Given the description of an element on the screen output the (x, y) to click on. 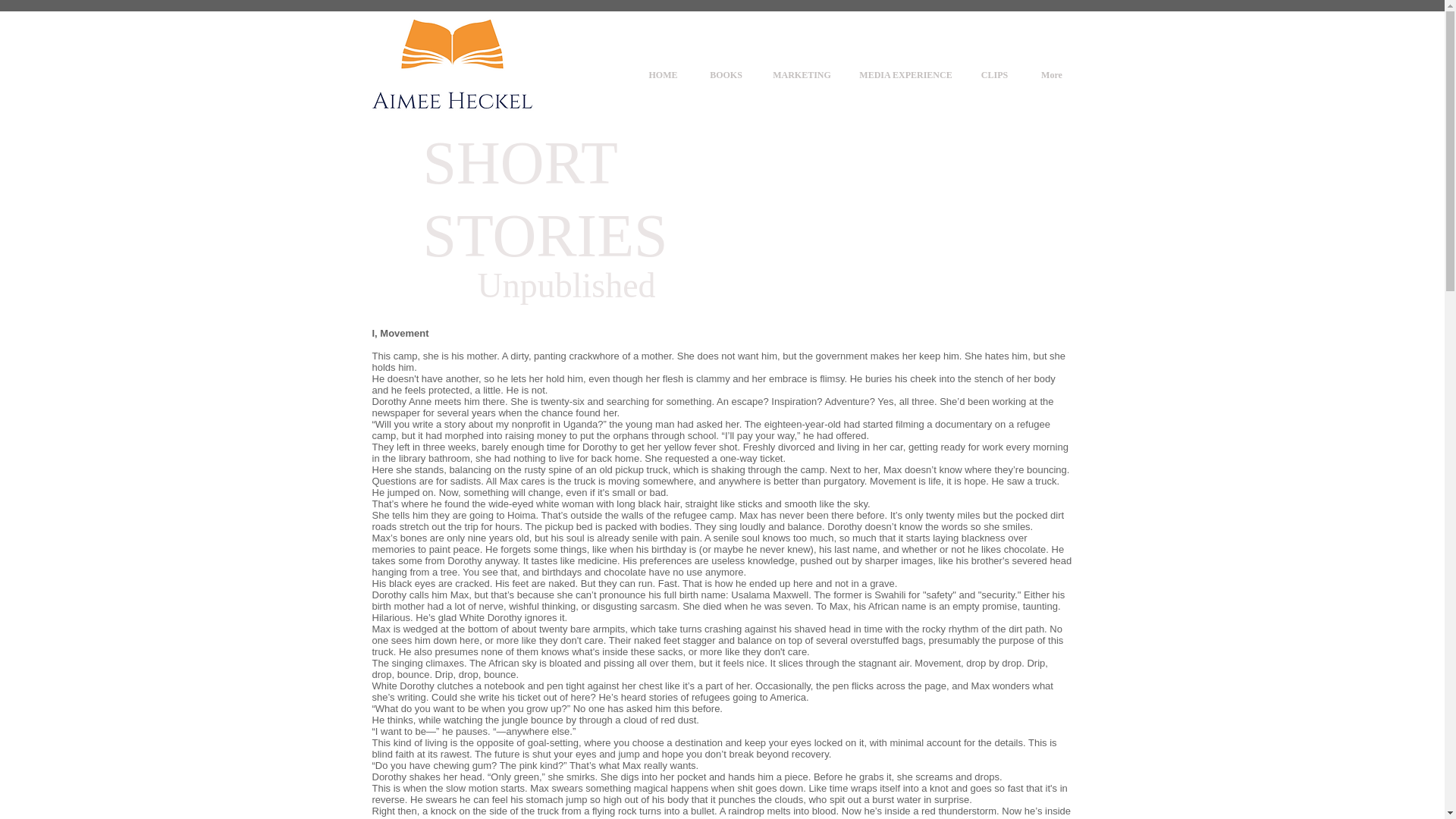
BOOKS (726, 73)
CLIPS (994, 73)
MEDIA EXPERIENCE (905, 73)
MARKETING (801, 73)
HOME (662, 73)
